Given the description of an element on the screen output the (x, y) to click on. 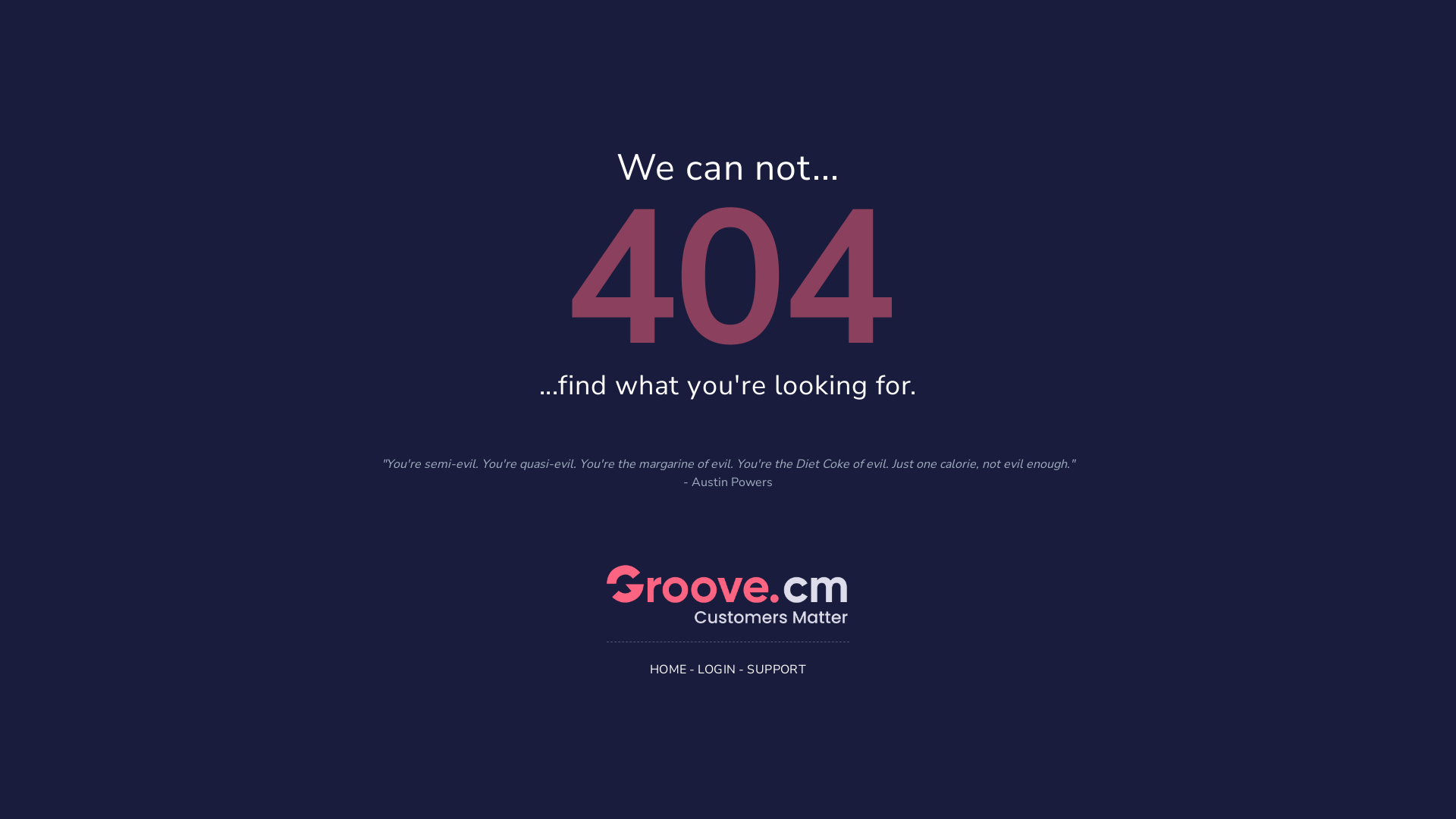
LOGIN Element type: text (716, 669)
HOME Element type: text (668, 669)
SUPPORT Element type: text (776, 669)
